Given the description of an element on the screen output the (x, y) to click on. 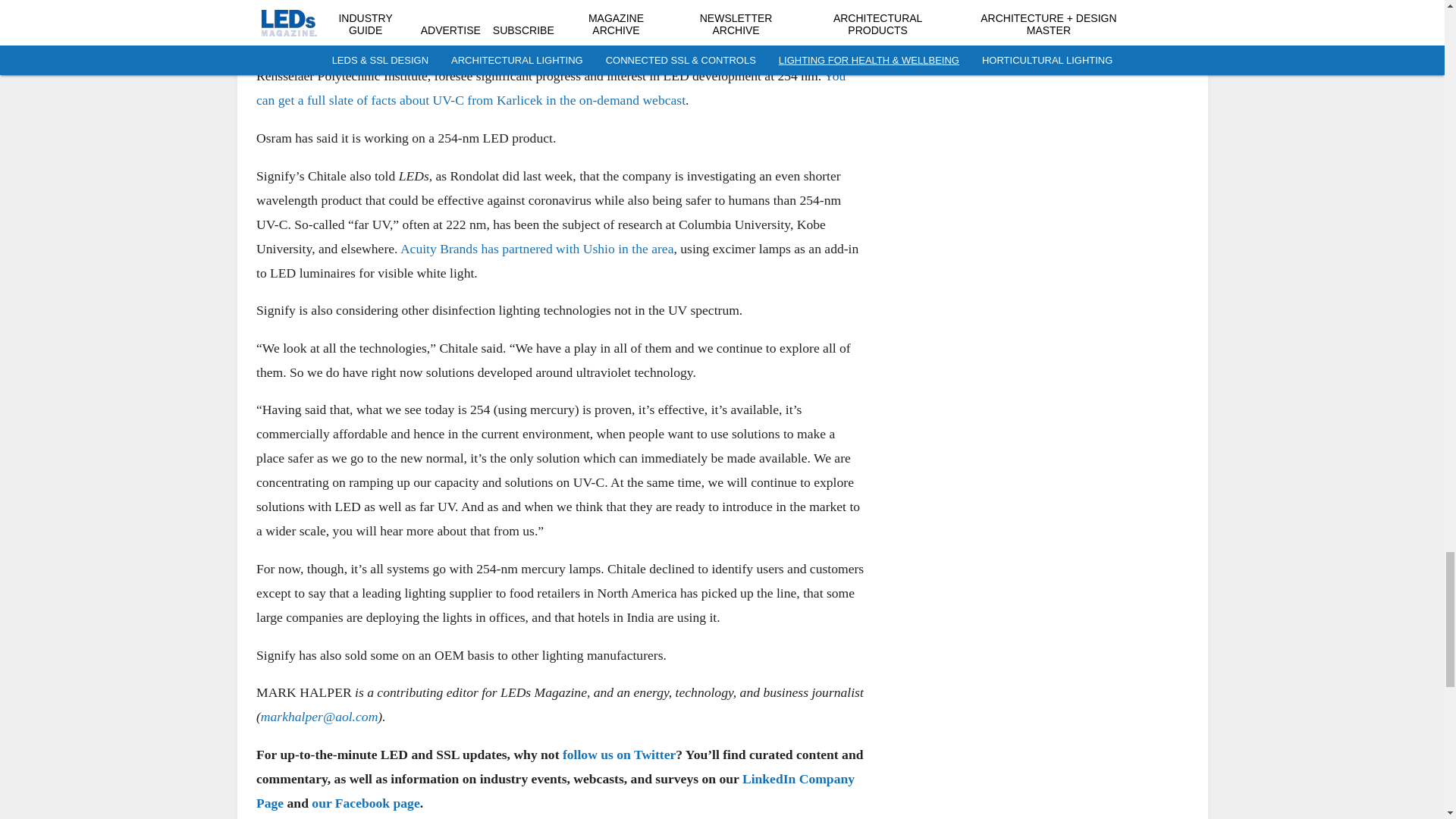
LinkedIn Company Page (555, 789)
Acuity Brands has partnered with Ushio in the area (535, 247)
follow us on Twitter (618, 753)
our Facebook page (365, 801)
